Given the description of an element on the screen output the (x, y) to click on. 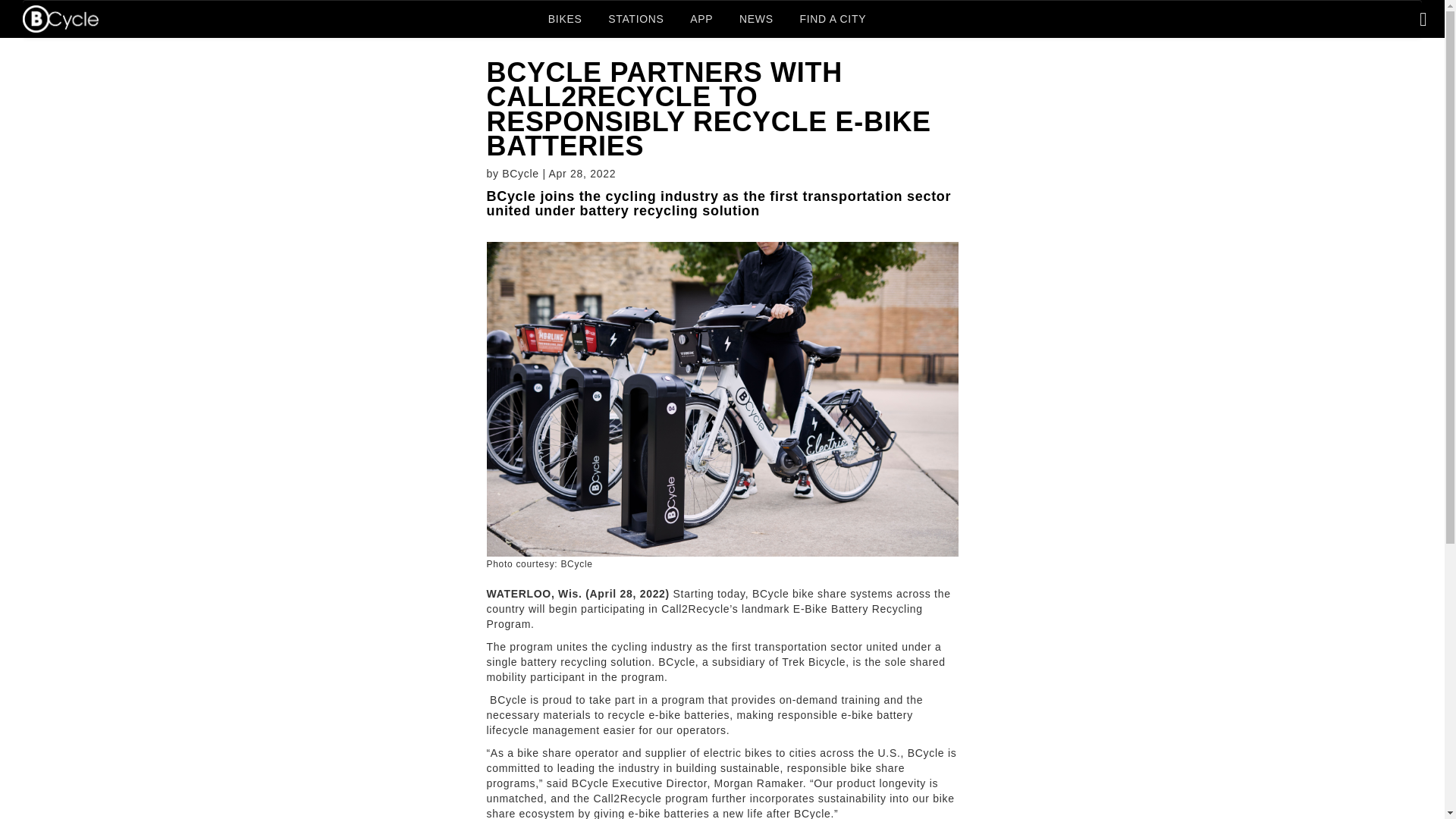
BIKES (565, 18)
STATIONS (635, 18)
BCycle (61, 18)
FIND A CITY (832, 18)
NEWS (756, 18)
APP (700, 18)
